Given the description of an element on the screen output the (x, y) to click on. 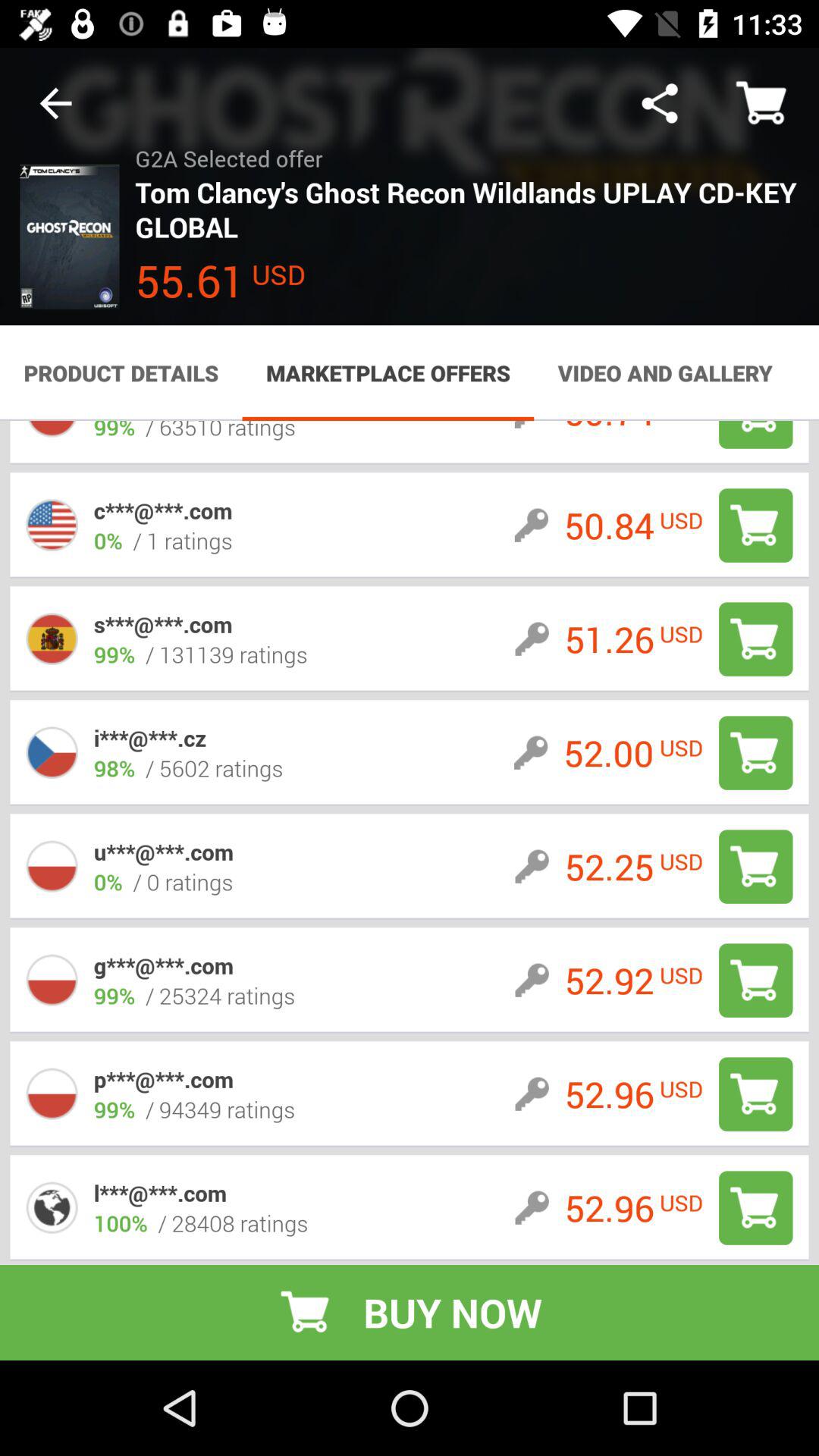
add to cart (755, 1207)
